Given the description of an element on the screen output the (x, y) to click on. 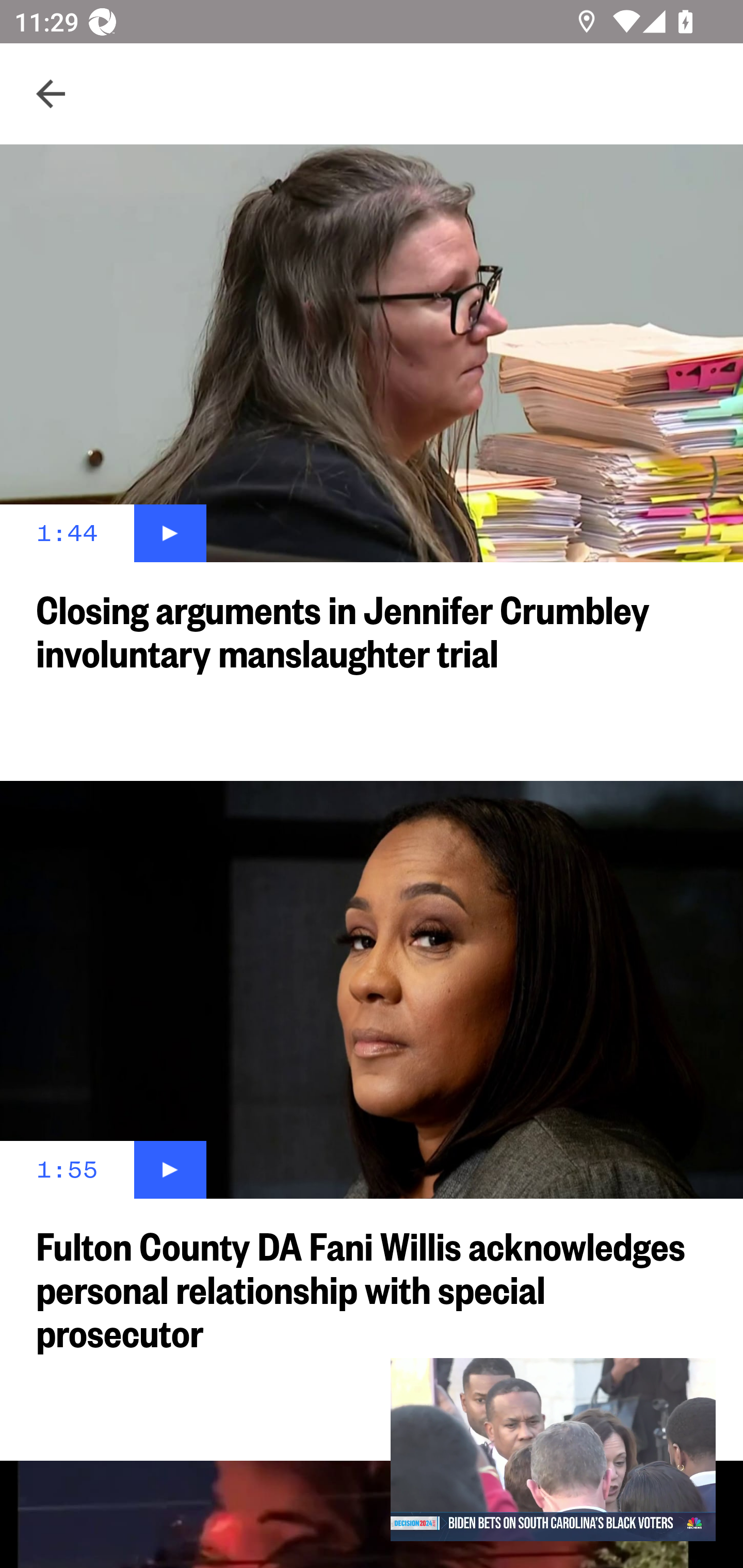
Navigate up (50, 93)
